Given the description of an element on the screen output the (x, y) to click on. 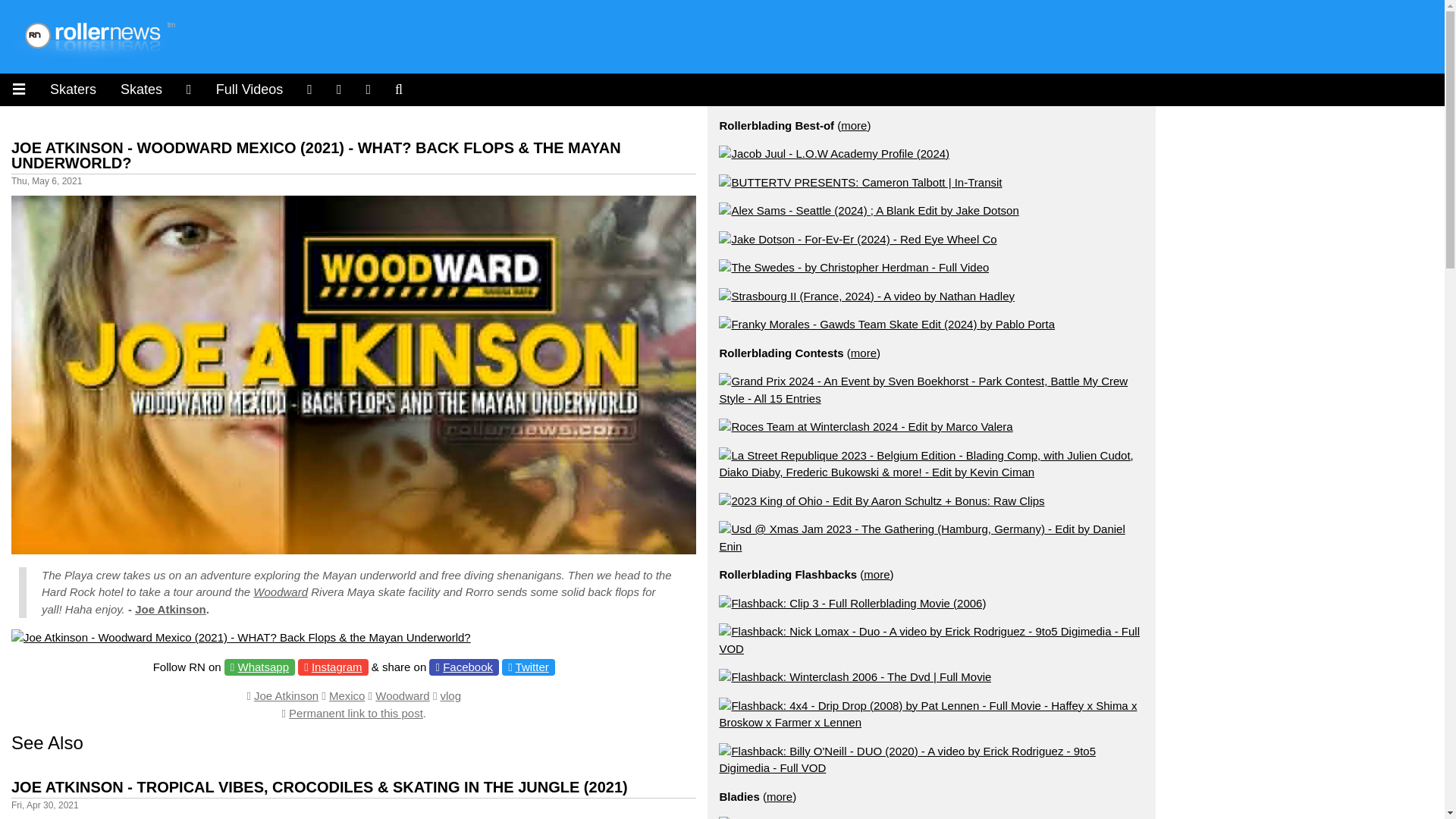
Instagram (188, 88)
Twitter (531, 666)
Skaters (72, 88)
Skates (140, 88)
Joe Atkinson (285, 695)
vlog (451, 695)
Facebook (467, 666)
Search (398, 88)
Instagram (336, 666)
Woodward (280, 591)
